Given the description of an element on the screen output the (x, y) to click on. 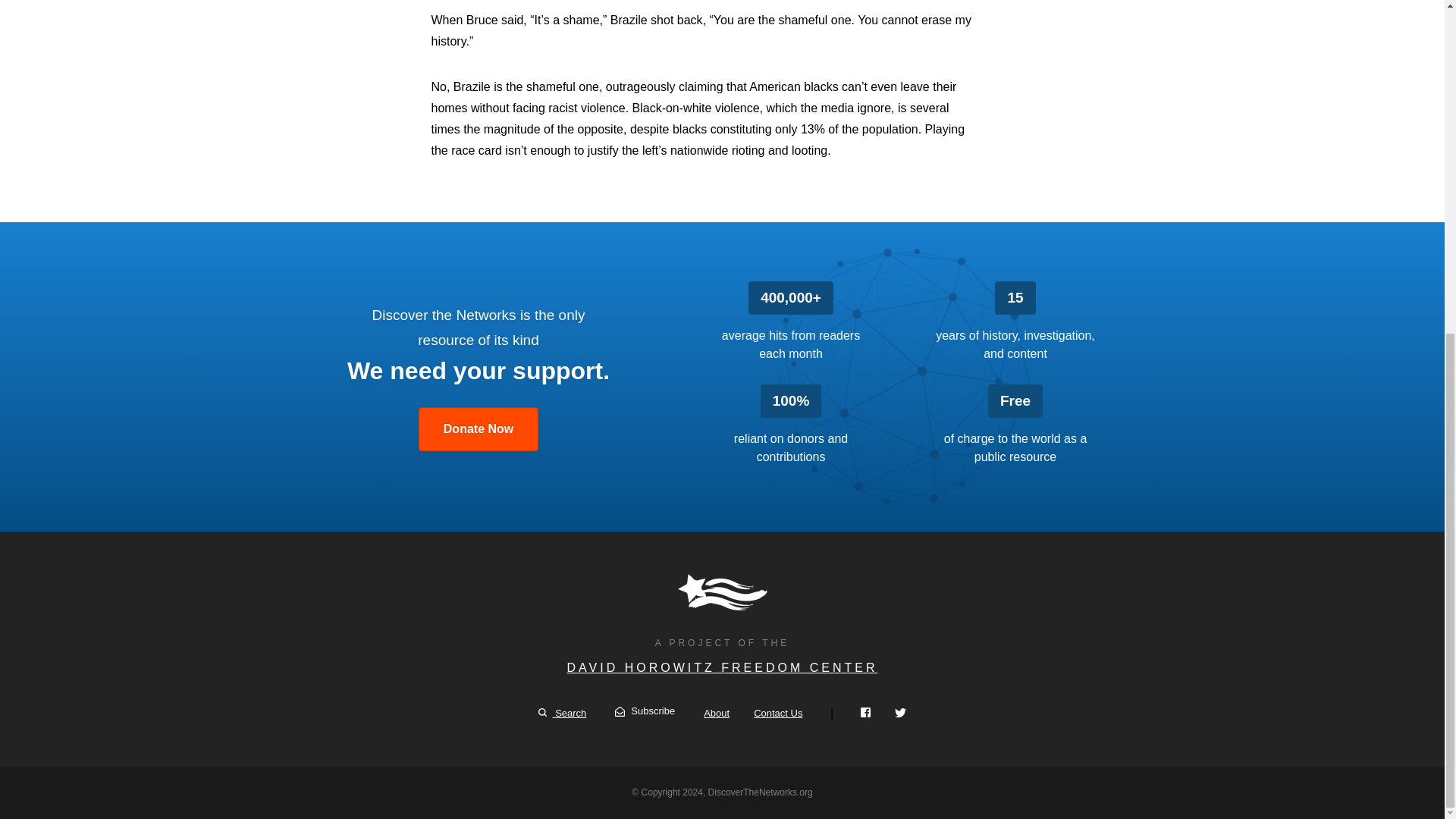
About (716, 713)
Search (562, 713)
DAVID HOROWITZ FREEDOM CENTER (722, 667)
Subscribe (644, 711)
Donate Now (478, 429)
Contact Us (778, 713)
